Given the description of an element on the screen output the (x, y) to click on. 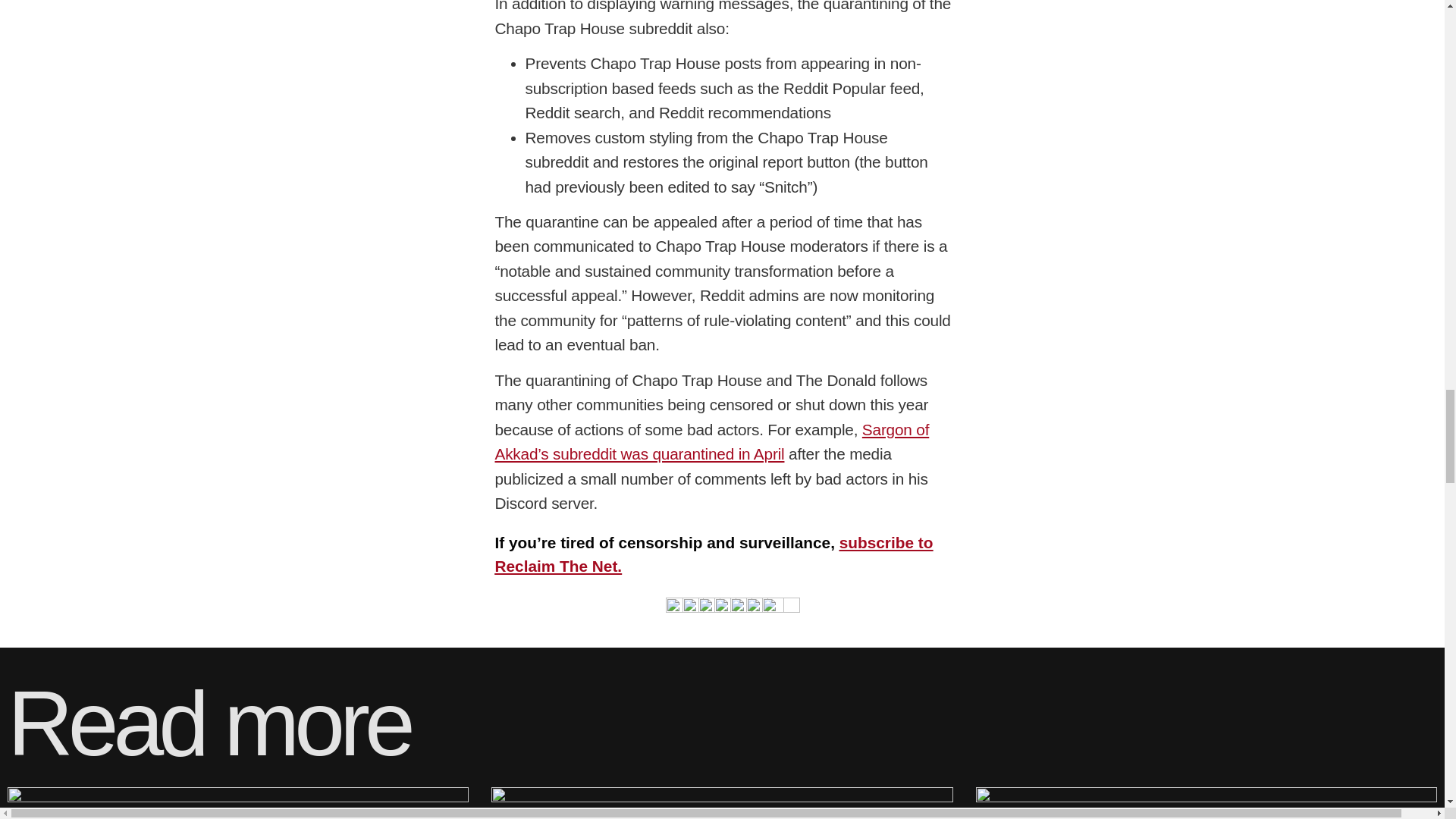
subscribe to Reclaim The Net. (714, 553)
